Given the description of an element on the screen output the (x, y) to click on. 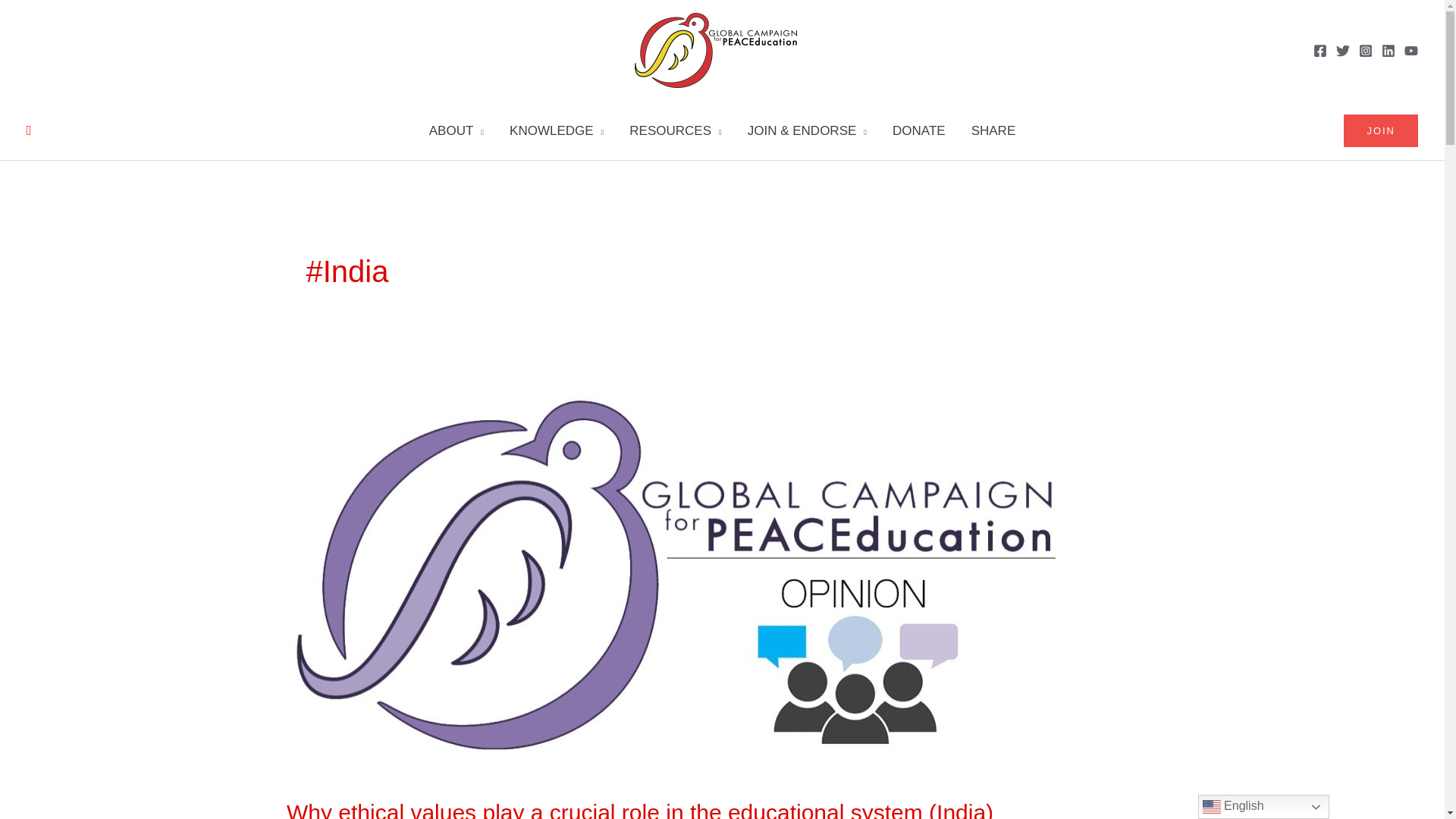
ABOUT (456, 130)
RESOURCES (674, 130)
KNOWLEDGE (555, 130)
